Given the description of an element on the screen output the (x, y) to click on. 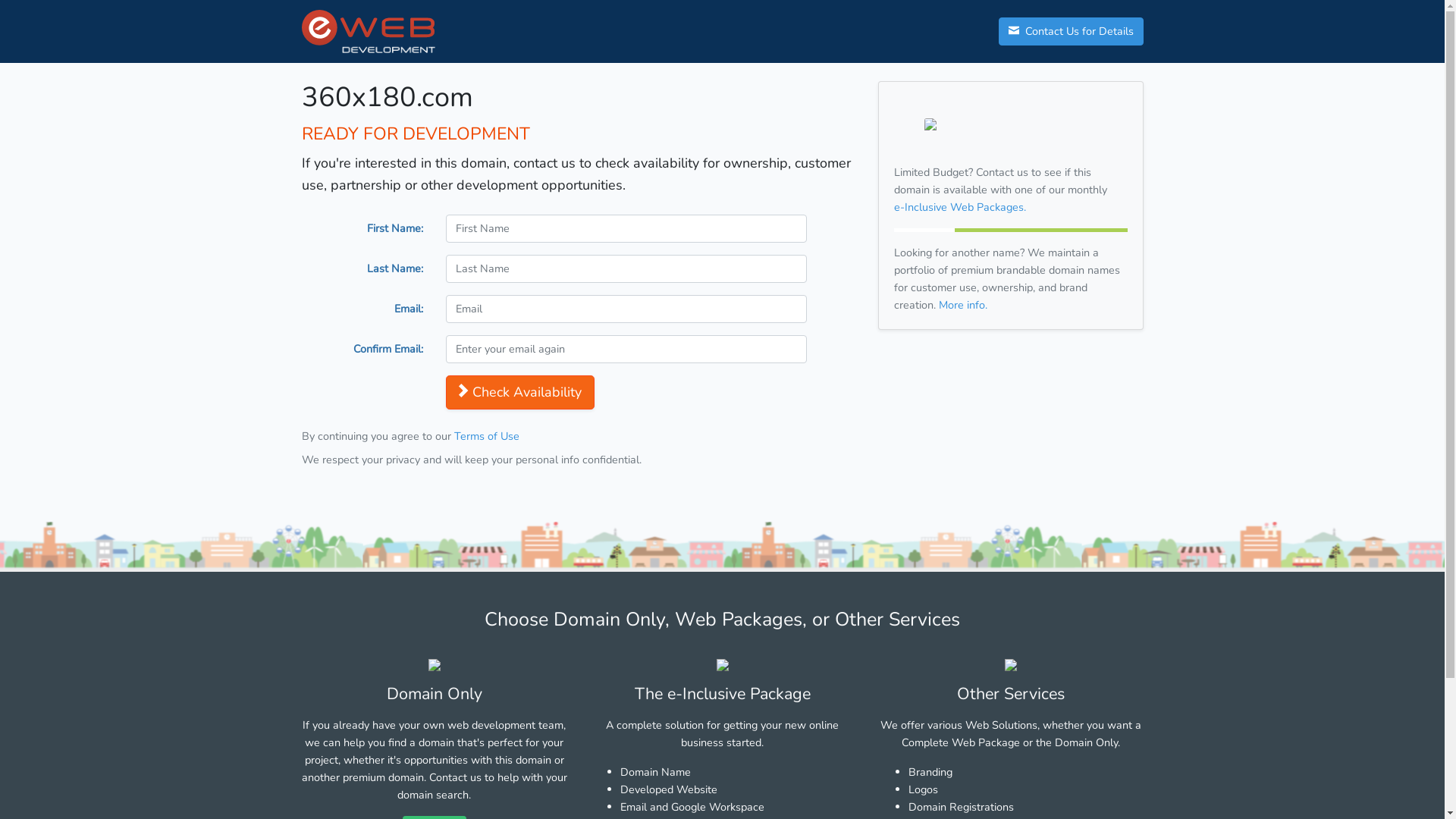
Contact Us for Details Element type: text (1069, 31)
Check Availability Element type: text (519, 392)
More info. Element type: text (962, 304)
Terms of Use Element type: text (485, 435)
e-Inclusive Web Packages. Element type: text (959, 206)
